Given the description of an element on the screen output the (x, y) to click on. 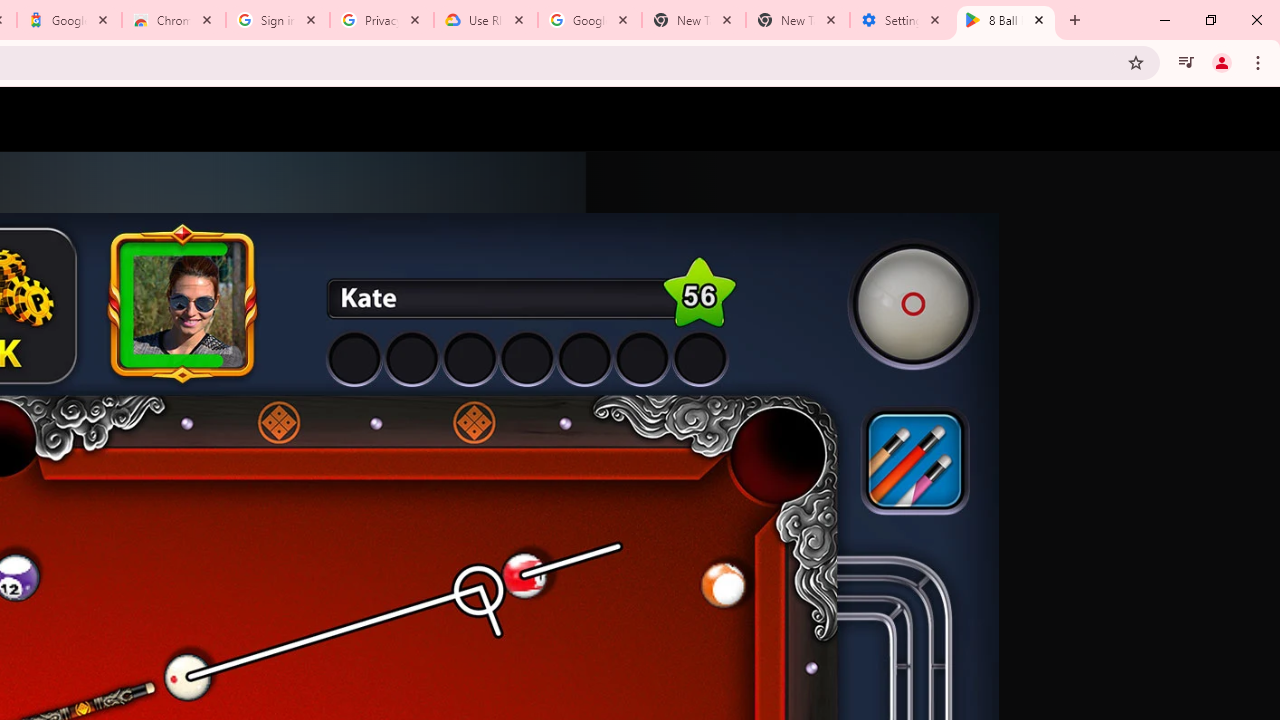
8 Ball Pool - Apps on Google Play (1005, 20)
Settings - System (901, 20)
Chrome Web Store - Color themes by Chrome (173, 20)
